Given the description of an element on the screen output the (x, y) to click on. 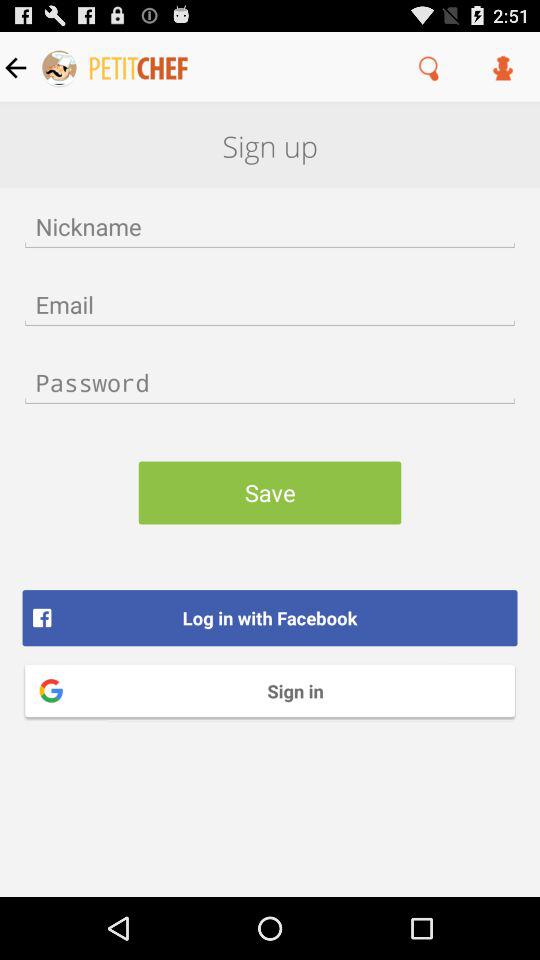
area to input nick name (269, 226)
